Given the description of an element on the screen output the (x, y) to click on. 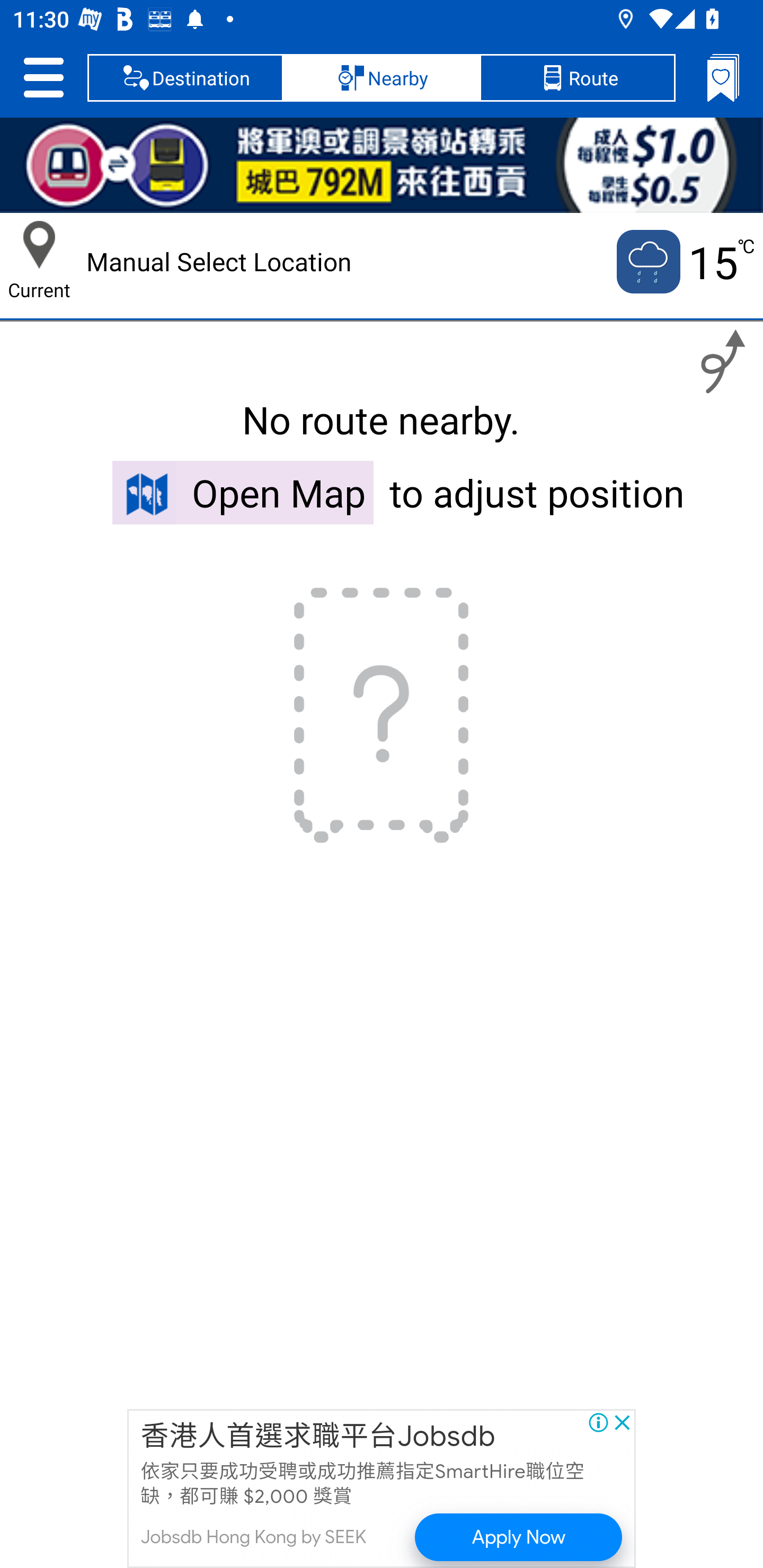
Destination (185, 77)
Nearby, selected (381, 77)
Route (577, 77)
Bookmarks (723, 77)
Setting (43, 77)
792M BRI (381, 165)
Current Location (38, 244)
Current temputure is  15  no 15 ℃ (684, 261)
Open Map (242, 491)
香港人首選求職平台Jobsdb (317, 1437)
Apply Now (519, 1537)
Jobsdb Hong Kong by SEEK (253, 1537)
